Given the description of an element on the screen output the (x, y) to click on. 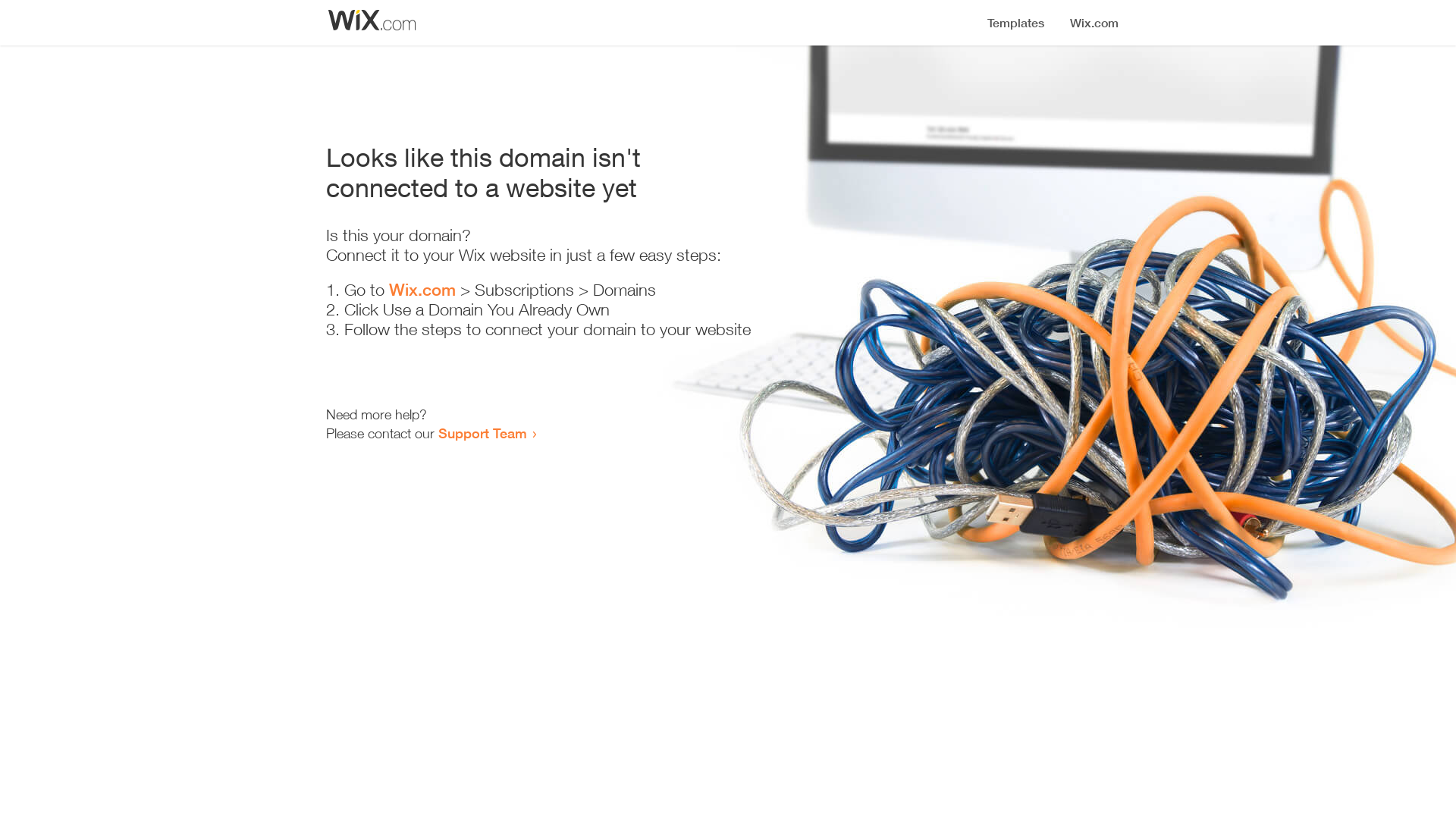
Support Team Element type: text (482, 432)
Wix.com Element type: text (422, 289)
